Given the description of an element on the screen output the (x, y) to click on. 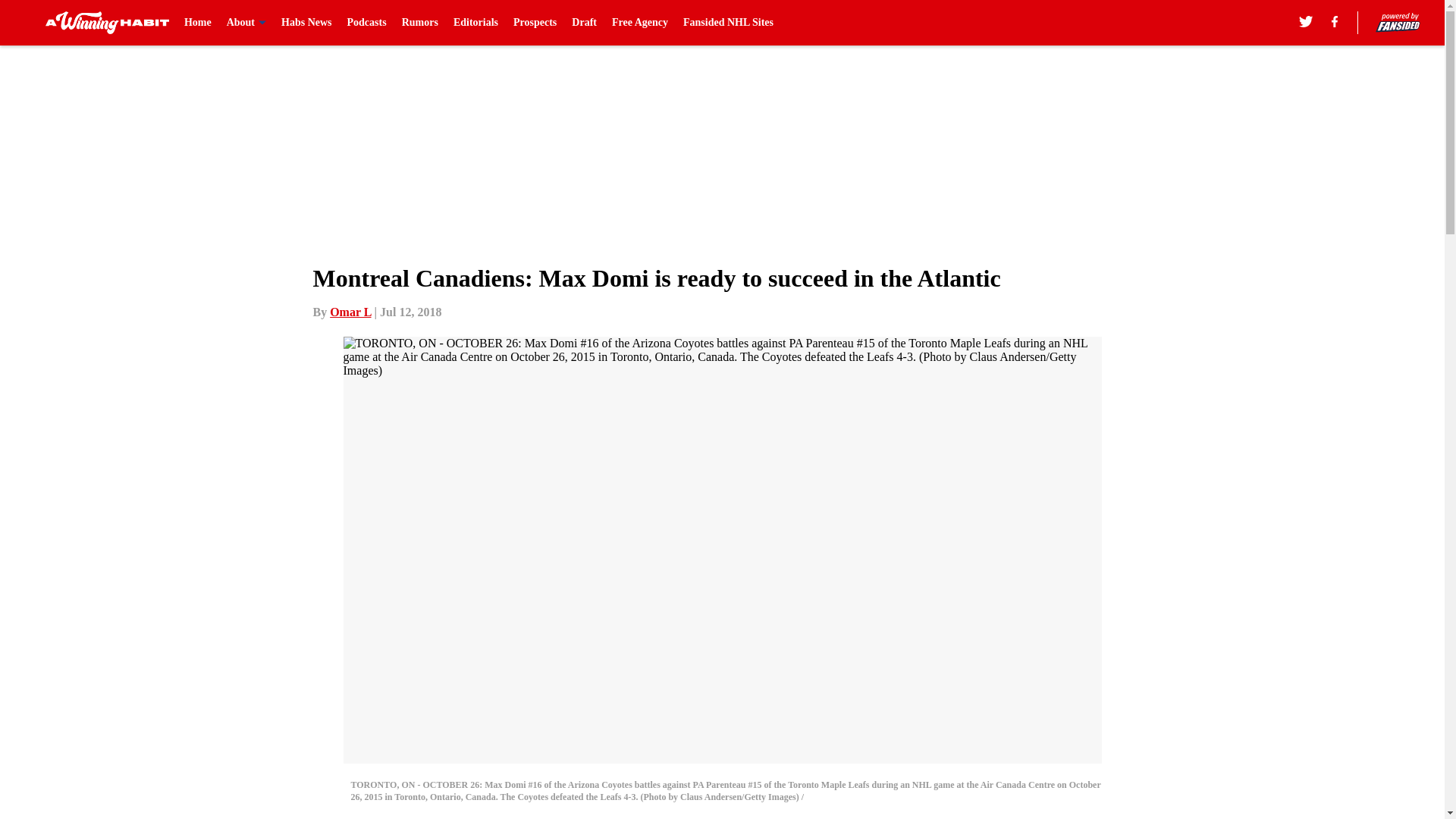
Podcasts (367, 22)
Home (197, 22)
Free Agency (639, 22)
Prospects (534, 22)
Draft (584, 22)
Omar L (350, 311)
Habs News (306, 22)
Fansided NHL Sites (727, 22)
Editorials (474, 22)
Rumors (419, 22)
